Given the description of an element on the screen output the (x, y) to click on. 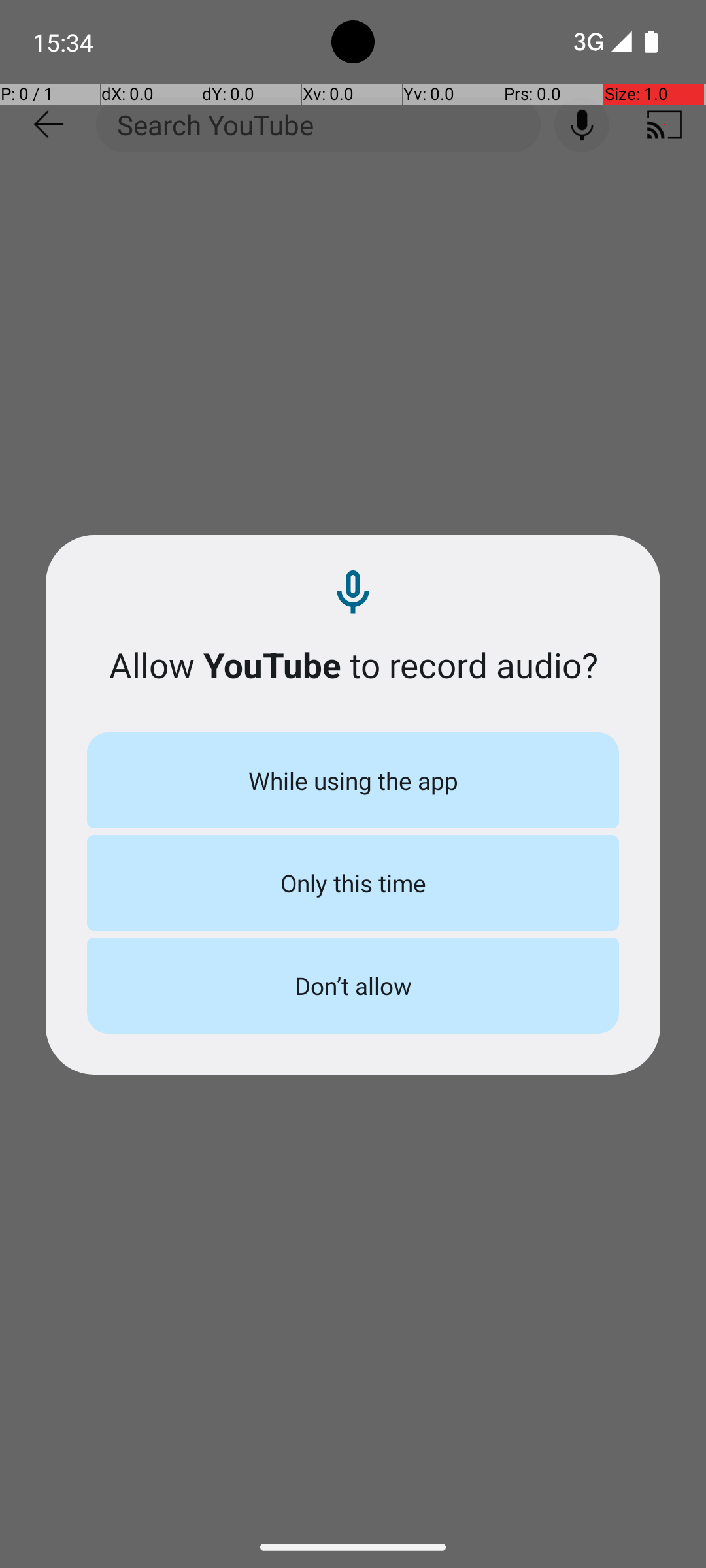
Allow YouTube to record audio? Element type: android.widget.TextView (352, 664)
While using the app Element type: android.widget.Button (352, 780)
Only this time Element type: android.widget.Button (352, 882)
